Given the description of an element on the screen output the (x, y) to click on. 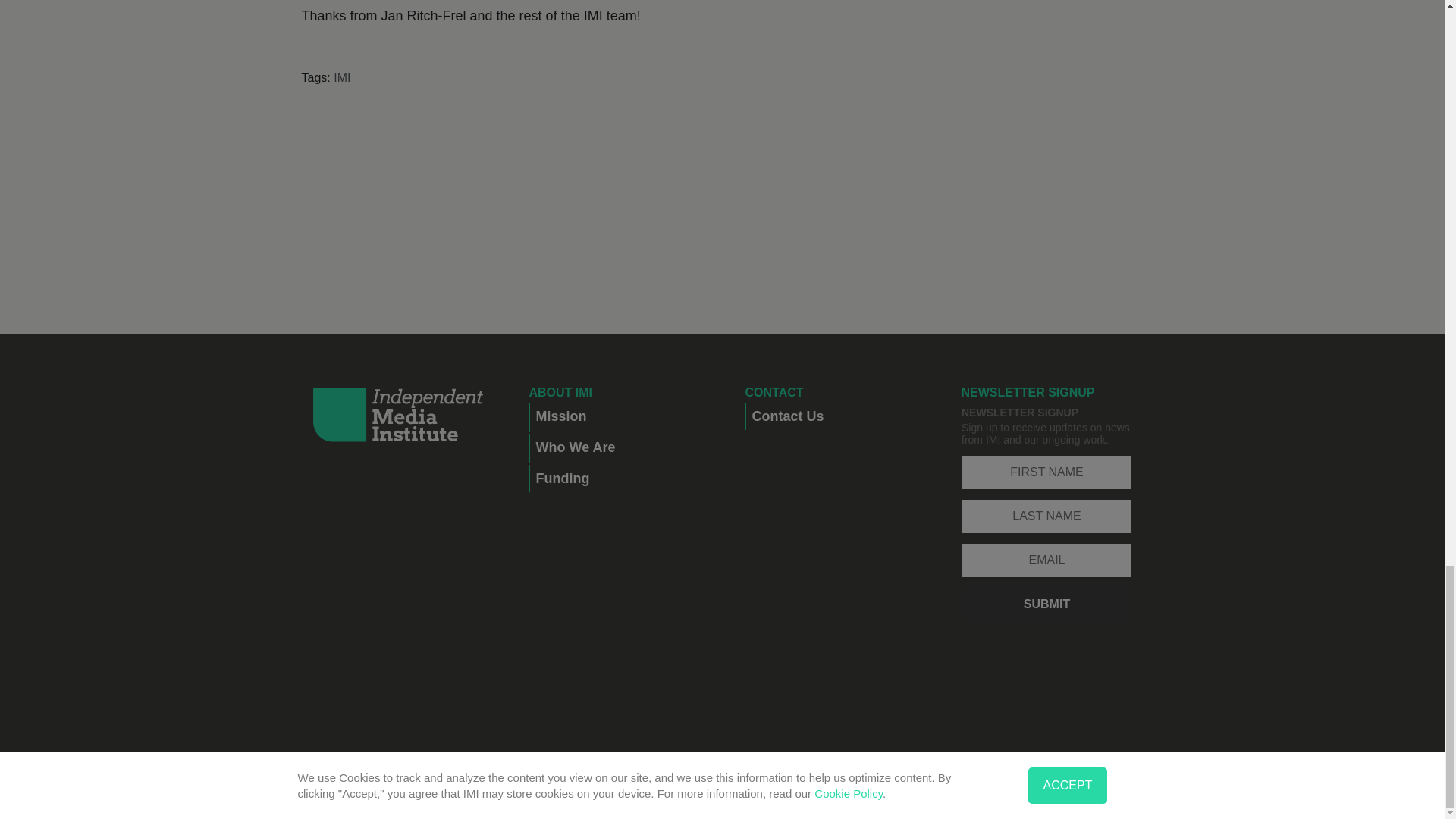
Funding (616, 478)
Who We Are (616, 447)
IMI (341, 77)
Mission (616, 415)
Contact Us (833, 415)
